Given the description of an element on the screen output the (x, y) to click on. 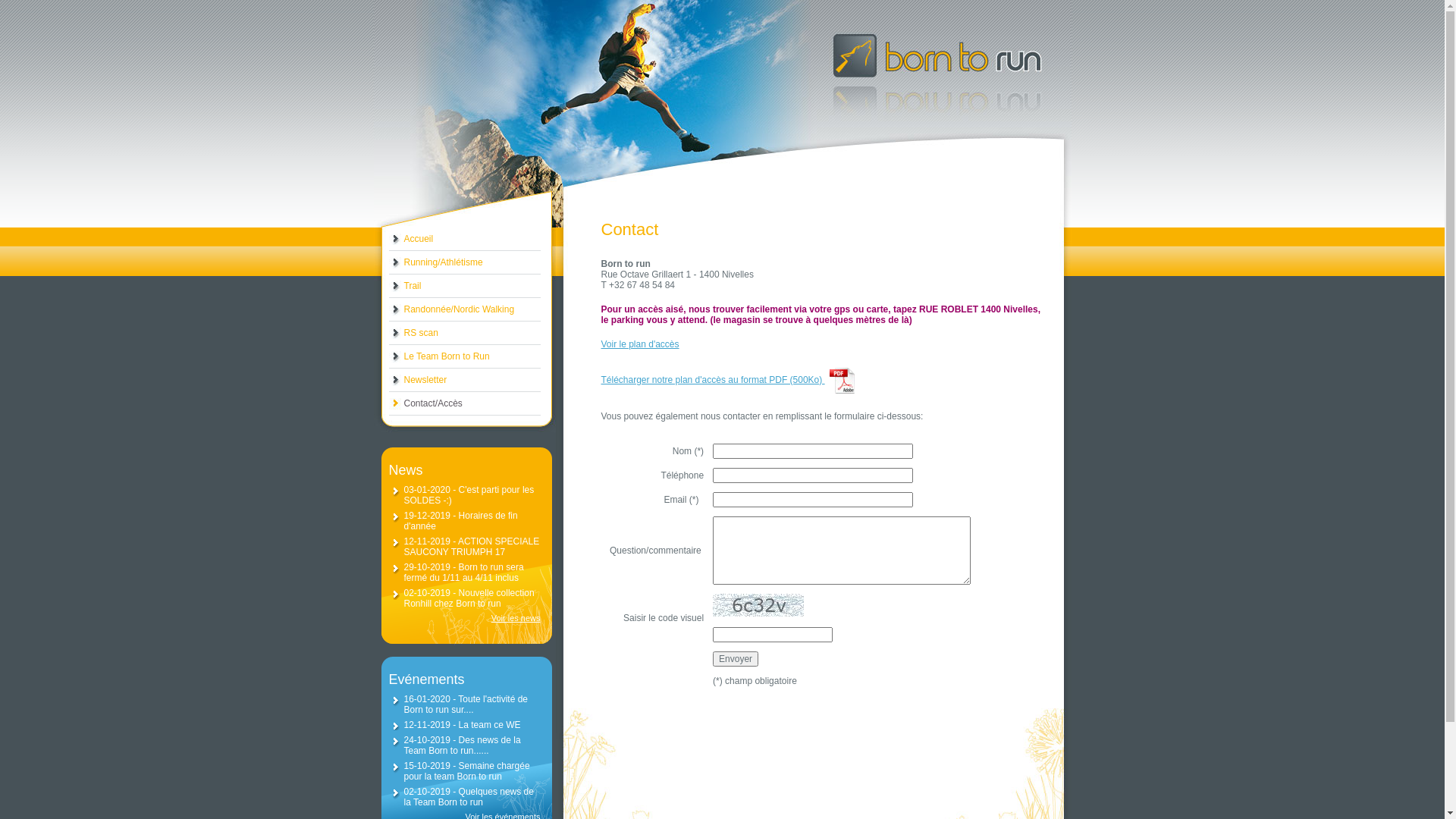
Envoyer Element type: text (735, 658)
12-11-2019 - La team ce WE Element type: text (461, 724)
Newsletter Element type: text (463, 380)
Voir les news Element type: text (463, 617)
02-10-2019 - Nouvelle collection Ronhill chez Born to run Element type: text (468, 597)
Trail Element type: text (463, 286)
Accueil Element type: text (463, 239)
03-01-2020 - C'est parti pour les SOLDES -:) Element type: text (468, 494)
RS scan Element type: text (463, 333)
02-10-2019 - Quelques news de la Team Born to run Element type: text (468, 796)
Le Team Born to Run Element type: text (463, 356)
12-11-2019 - ACTION SPECIALE SAUCONY TRIUMPH 17 Element type: text (471, 546)
24-10-2019 - Des news de la Team Born to run...... Element type: text (461, 745)
